Given the description of an element on the screen output the (x, y) to click on. 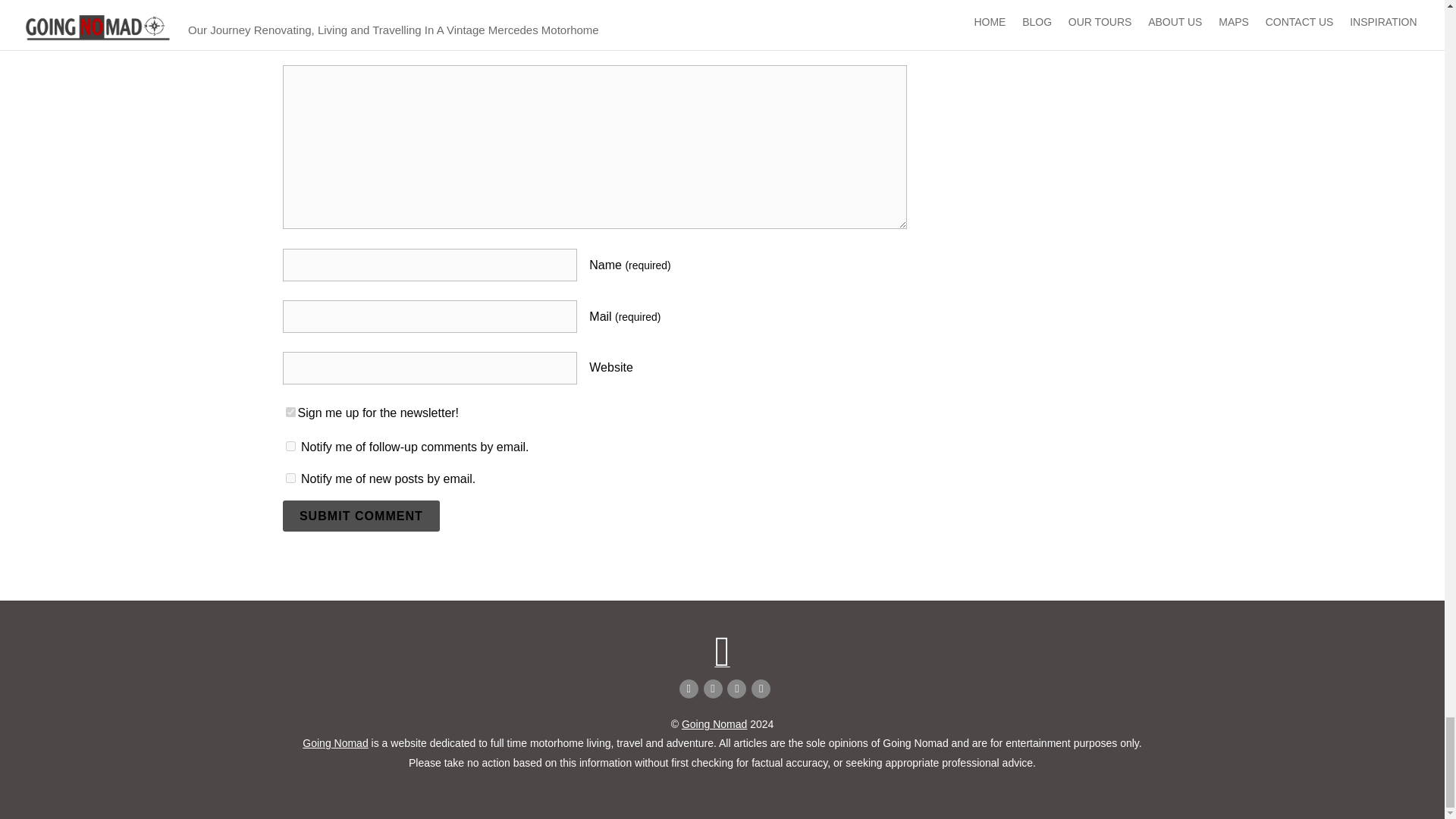
subscribe (290, 446)
subscribe (290, 478)
Submit Comment (360, 515)
Submit Comment (360, 515)
1 (290, 411)
